Given the description of an element on the screen output the (x, y) to click on. 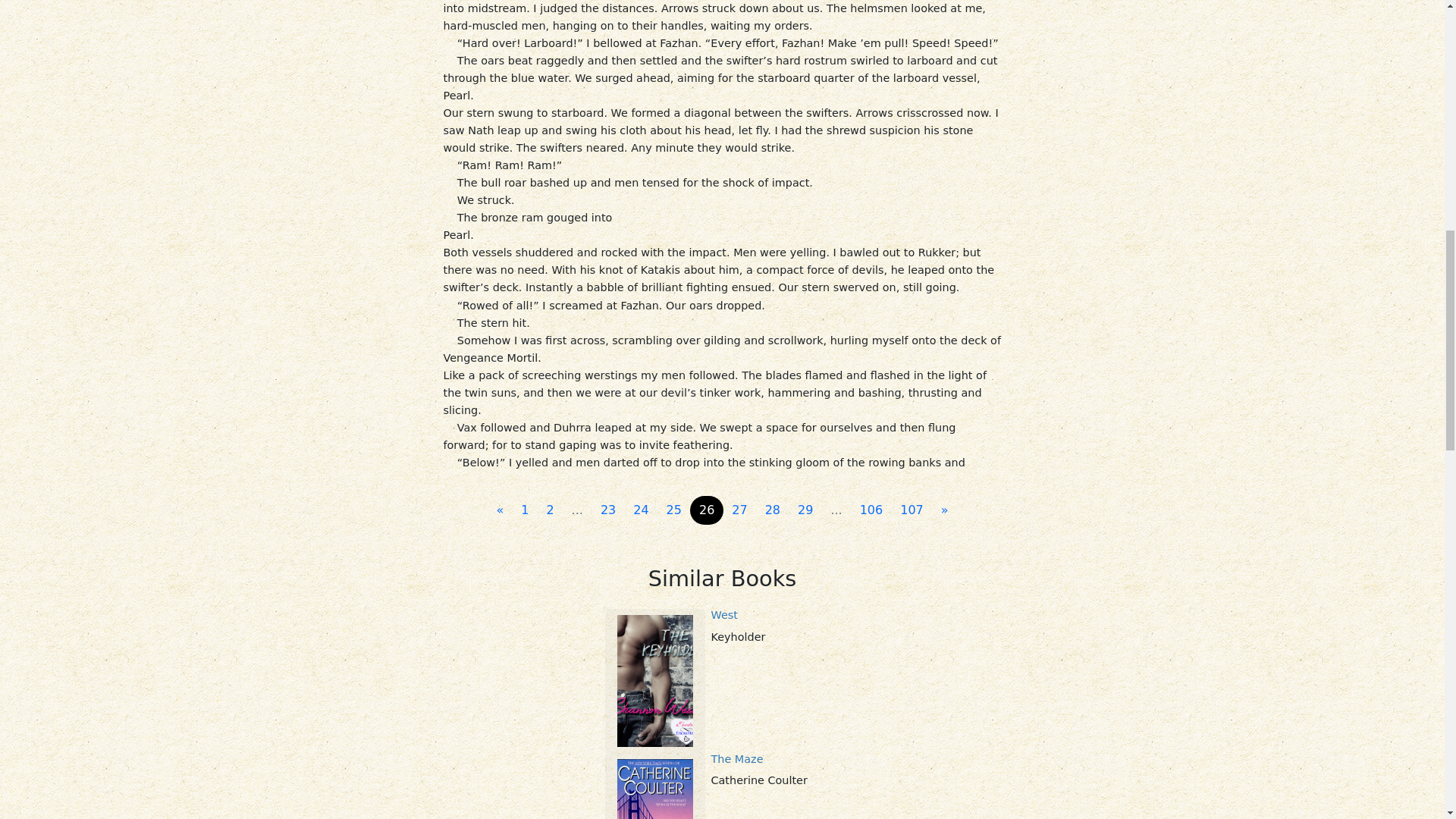
25 (674, 510)
106 (871, 510)
2 (549, 510)
27 (738, 510)
23 (607, 510)
... (835, 510)
26 (706, 510)
28 (772, 510)
29 (805, 510)
24 (641, 510)
... (577, 510)
1 (524, 510)
